Given the description of an element on the screen output the (x, y) to click on. 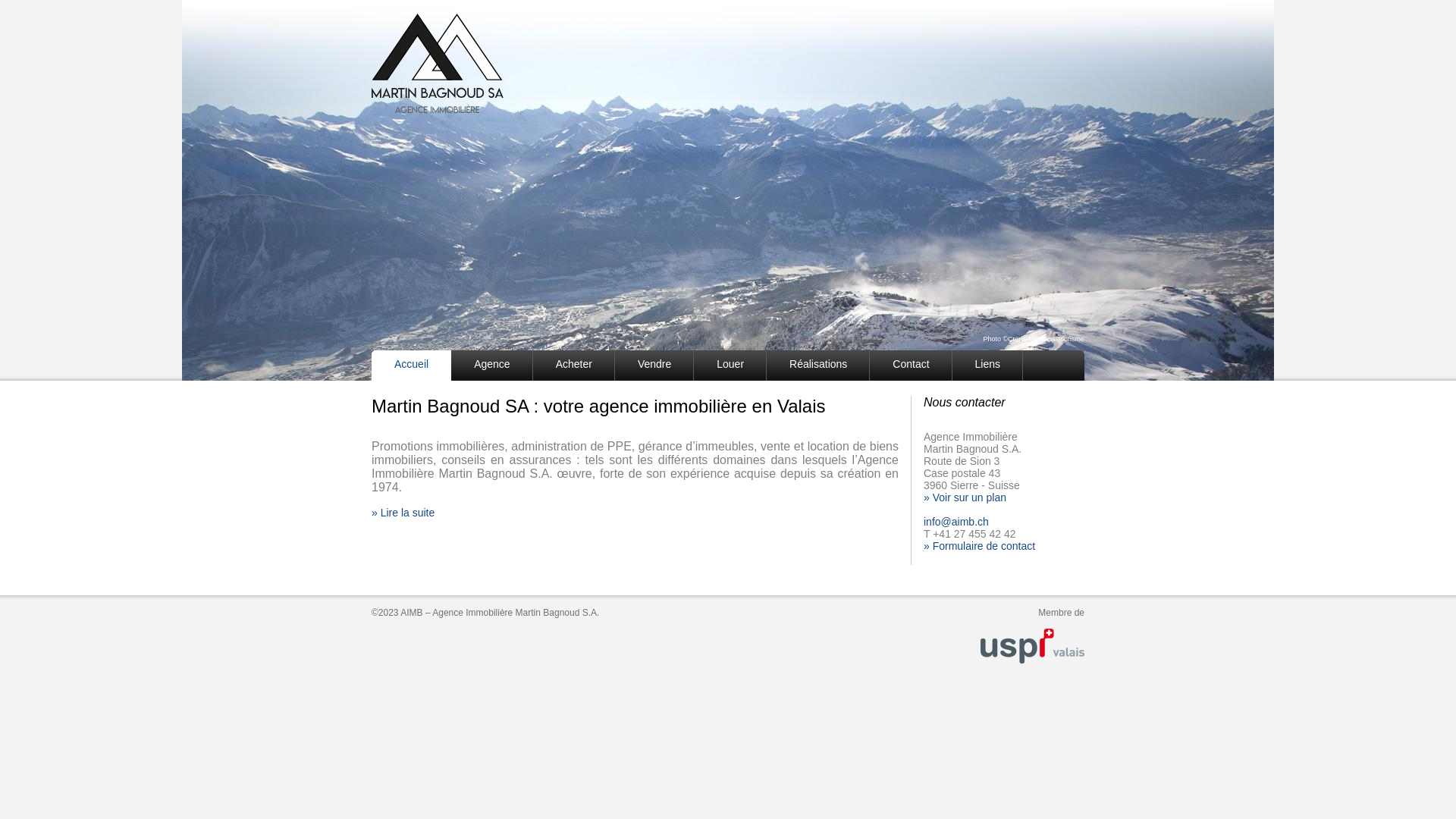
Vendre Element type: text (654, 365)
Contact Element type: text (910, 365)
Liens Element type: text (987, 365)
Accueil Element type: text (411, 365)
Acheter Element type: text (574, 365)
info@aimb.ch Element type: text (955, 521)
Agence Element type: text (491, 365)
Louer Element type: text (729, 365)
